Given the description of an element on the screen output the (x, y) to click on. 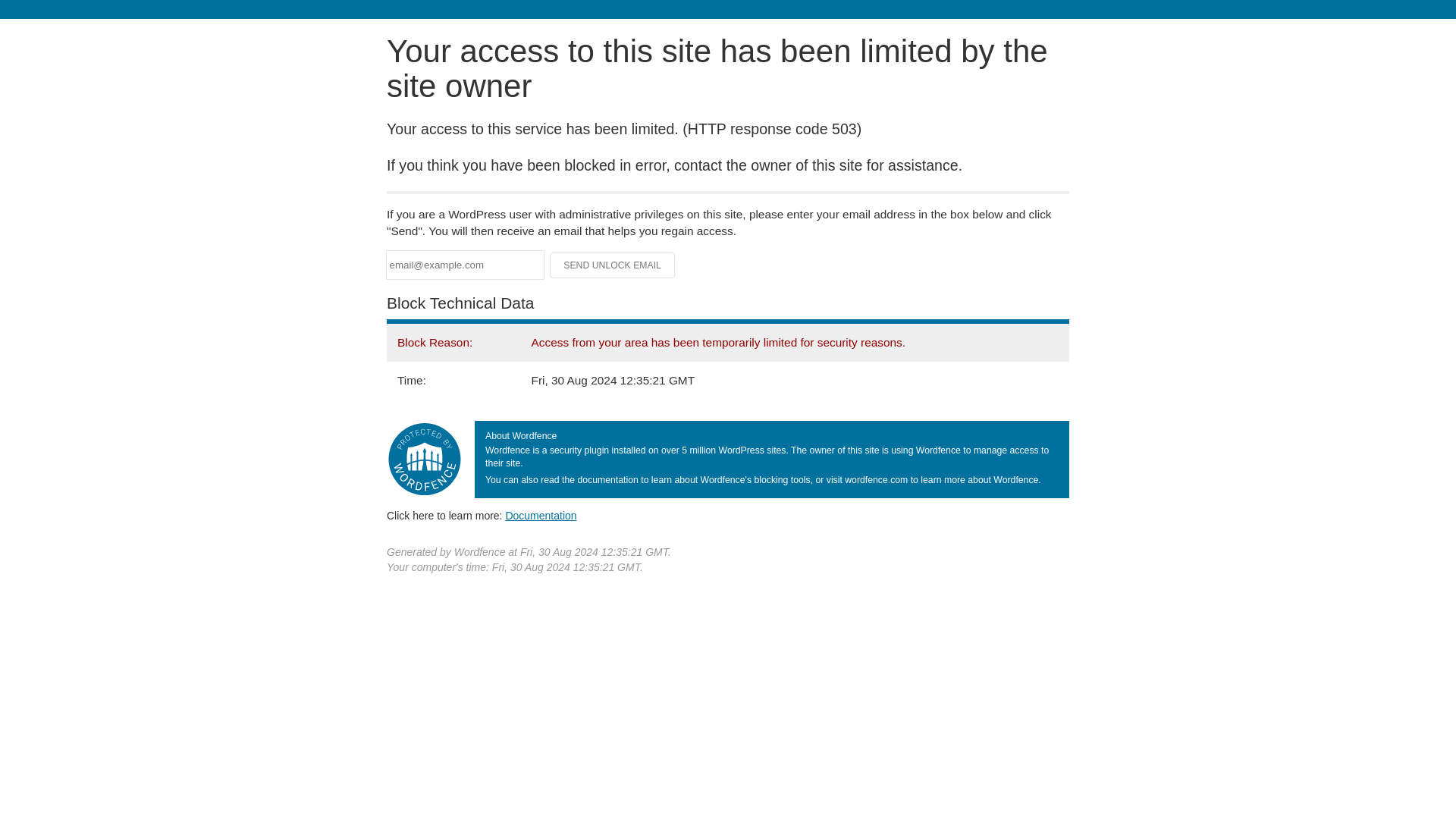
Documentation (540, 515)
Send Unlock Email (612, 265)
Send Unlock Email (612, 265)
